Given the description of an element on the screen output the (x, y) to click on. 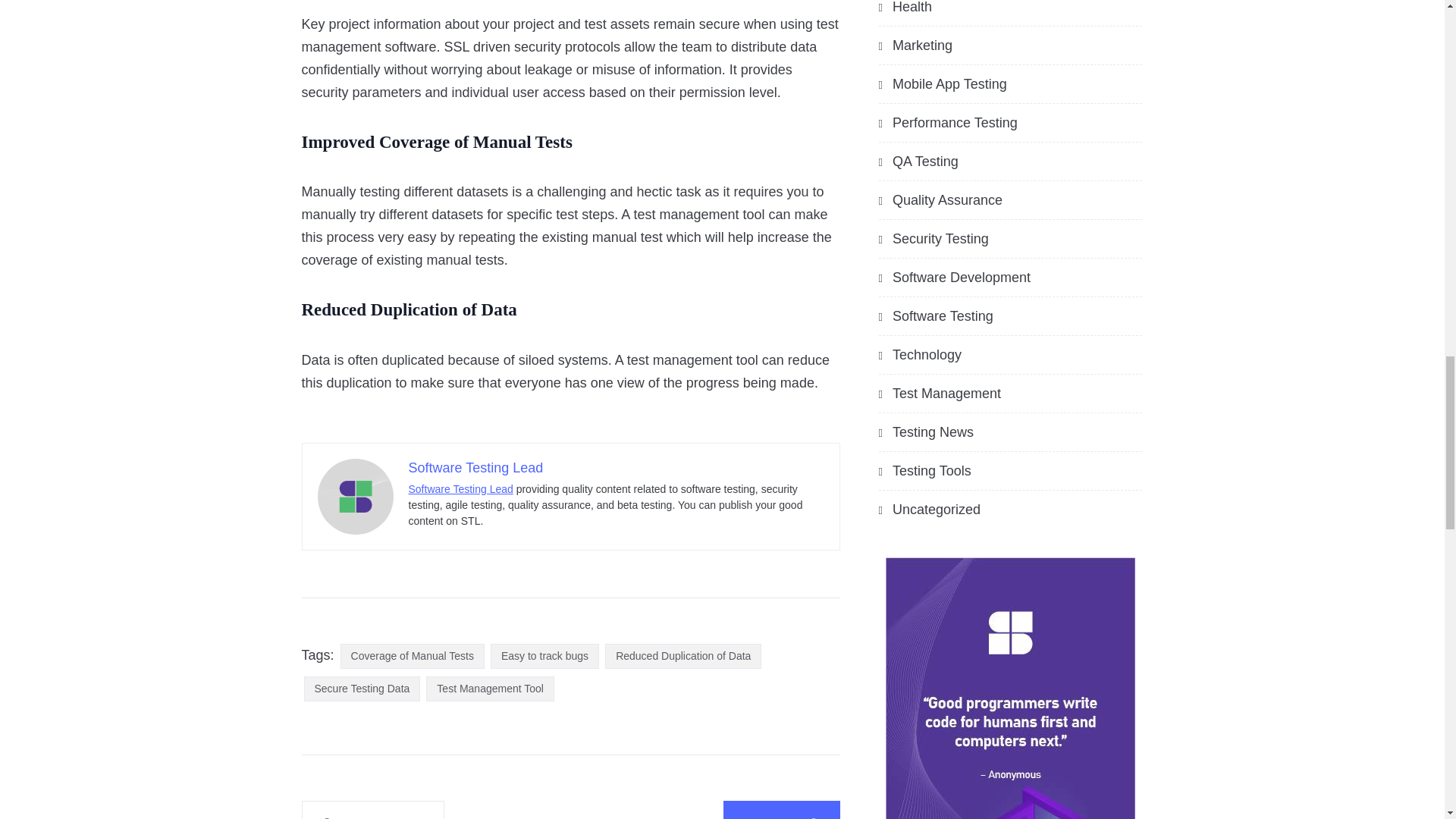
Easy to track bugs (544, 656)
Secure Testing Data (361, 688)
Coverage of Manual Tests (412, 656)
Software Testing Lead (475, 467)
PREVIOUS POST (373, 809)
Test Management Tool (490, 688)
Software Testing Lead (459, 489)
NEXT POST (781, 809)
Reduced Duplication of Data (683, 656)
